Given the description of an element on the screen output the (x, y) to click on. 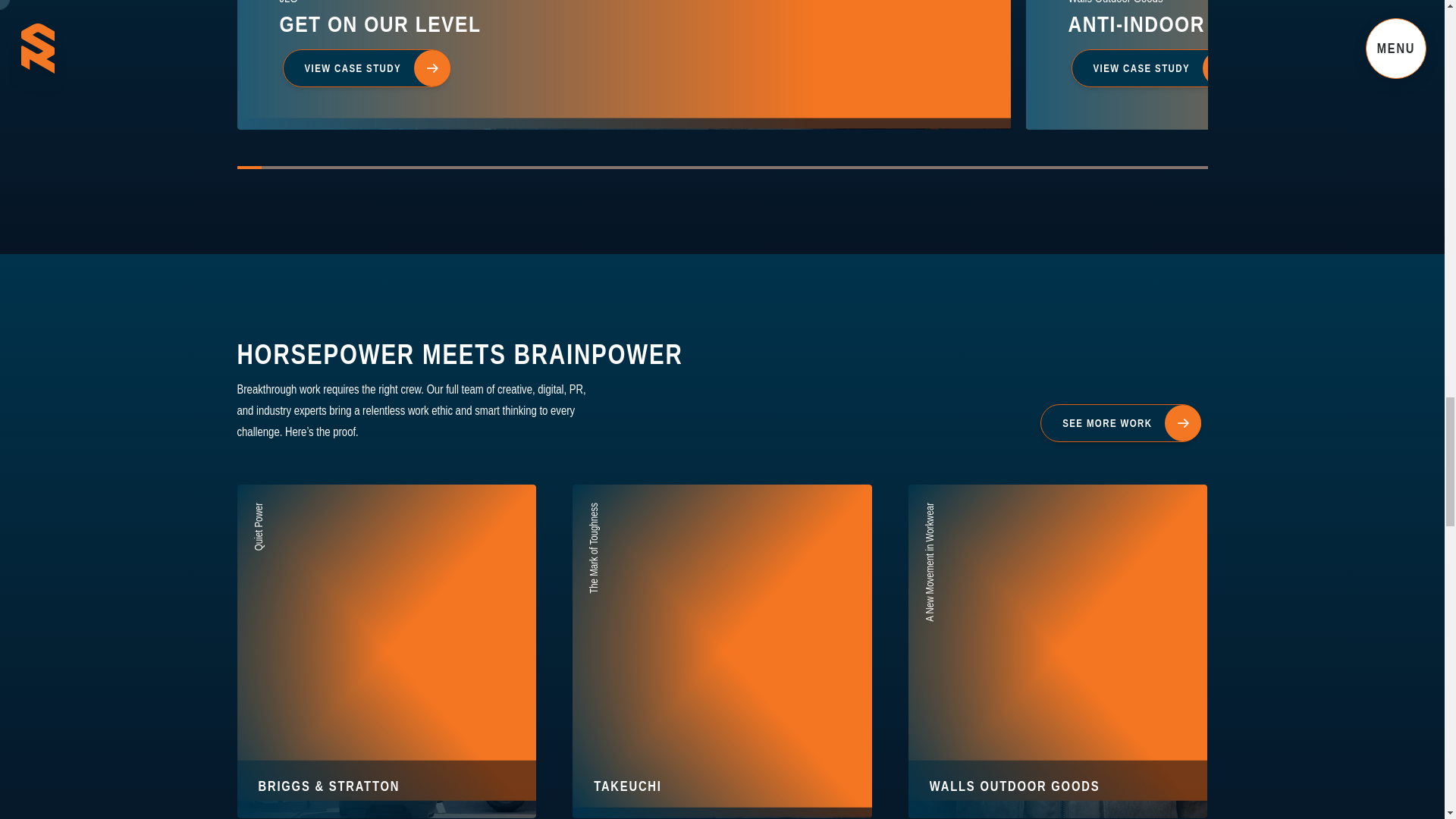
VIEW CASE STUDY (366, 68)
SEE MORE WORK (1120, 422)
VIEW CASE STUDY (1154, 68)
SEE MORE WORK (622, 64)
